Given the description of an element on the screen output the (x, y) to click on. 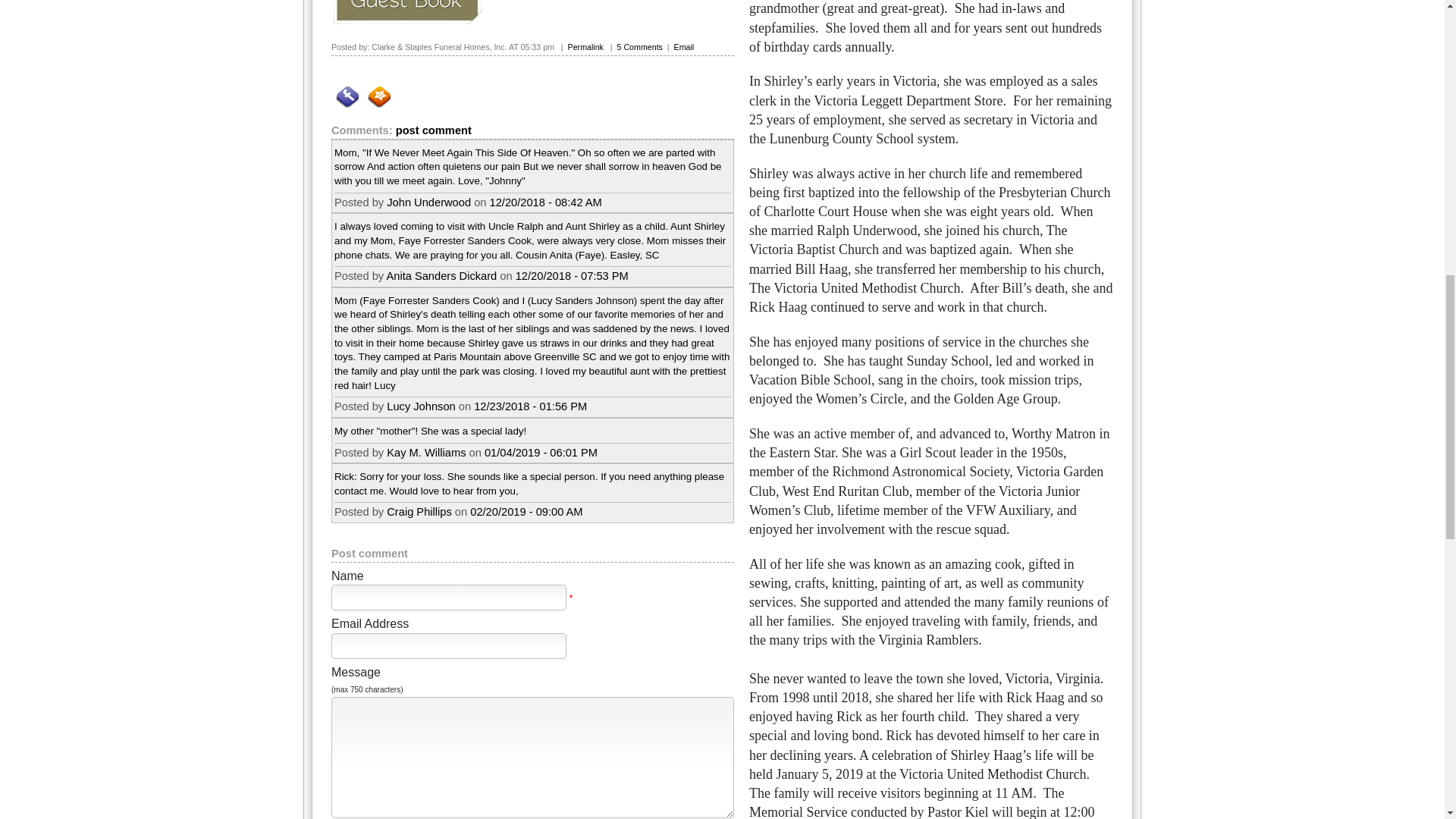
post comment (433, 130)
Email (684, 46)
Permalink (585, 46)
5 Comments (639, 46)
